Given the description of an element on the screen output the (x, y) to click on. 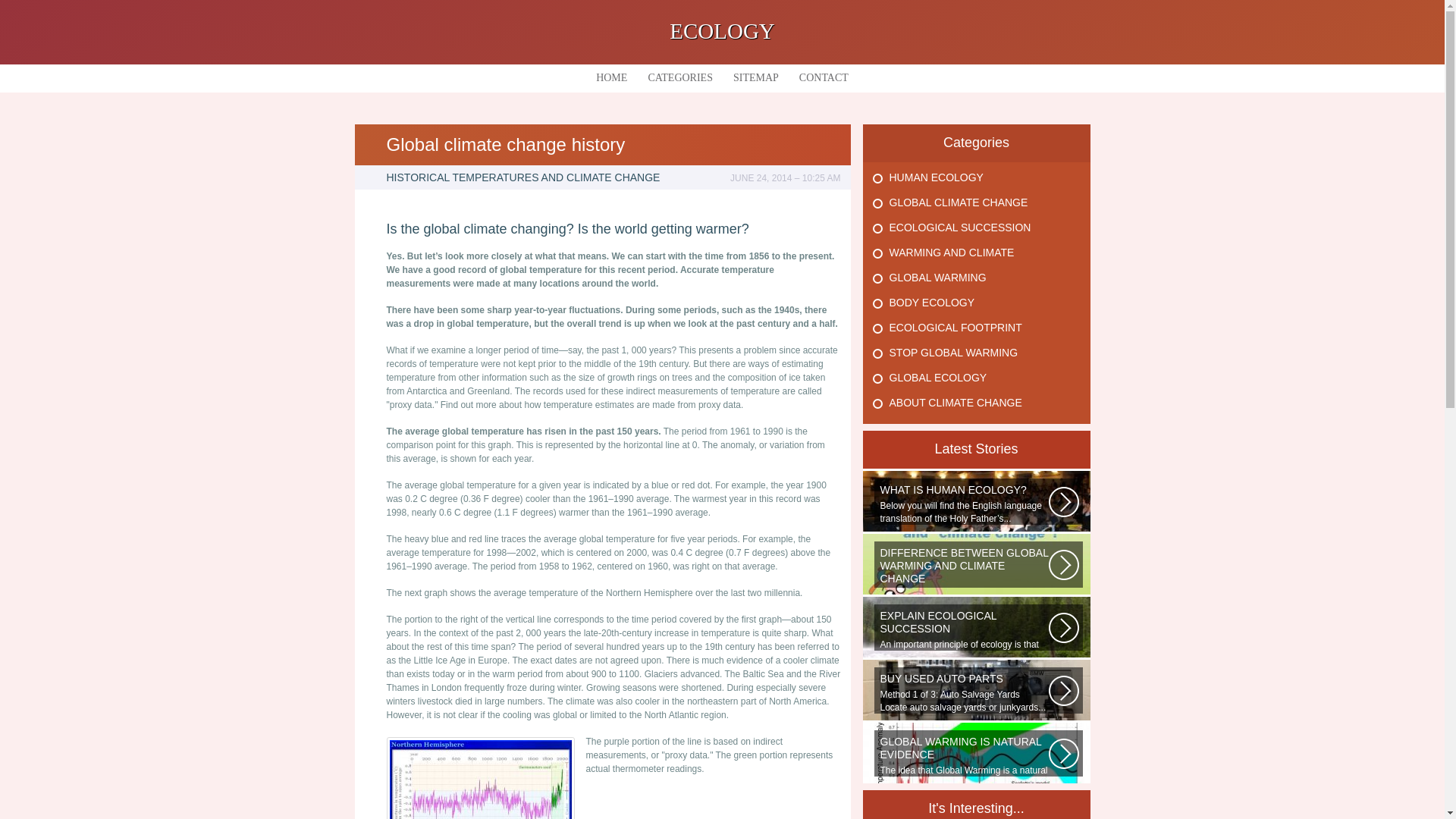
CONTACT (823, 77)
HOME (611, 77)
View all posts filed under Ecological Footprint (955, 327)
HUMAN ECOLOGY (935, 177)
BODY ECOLOGY (931, 302)
SITEMAP (755, 77)
ECOLOGY (721, 30)
View all posts filed under Global Ecology (937, 377)
View all posts filed under Body Ecology (931, 302)
View all posts filed under About Climate Change (955, 402)
View all posts filed under Warming And Climate (950, 252)
View all posts filed under Global Climate Change (957, 202)
